Given the description of an element on the screen output the (x, y) to click on. 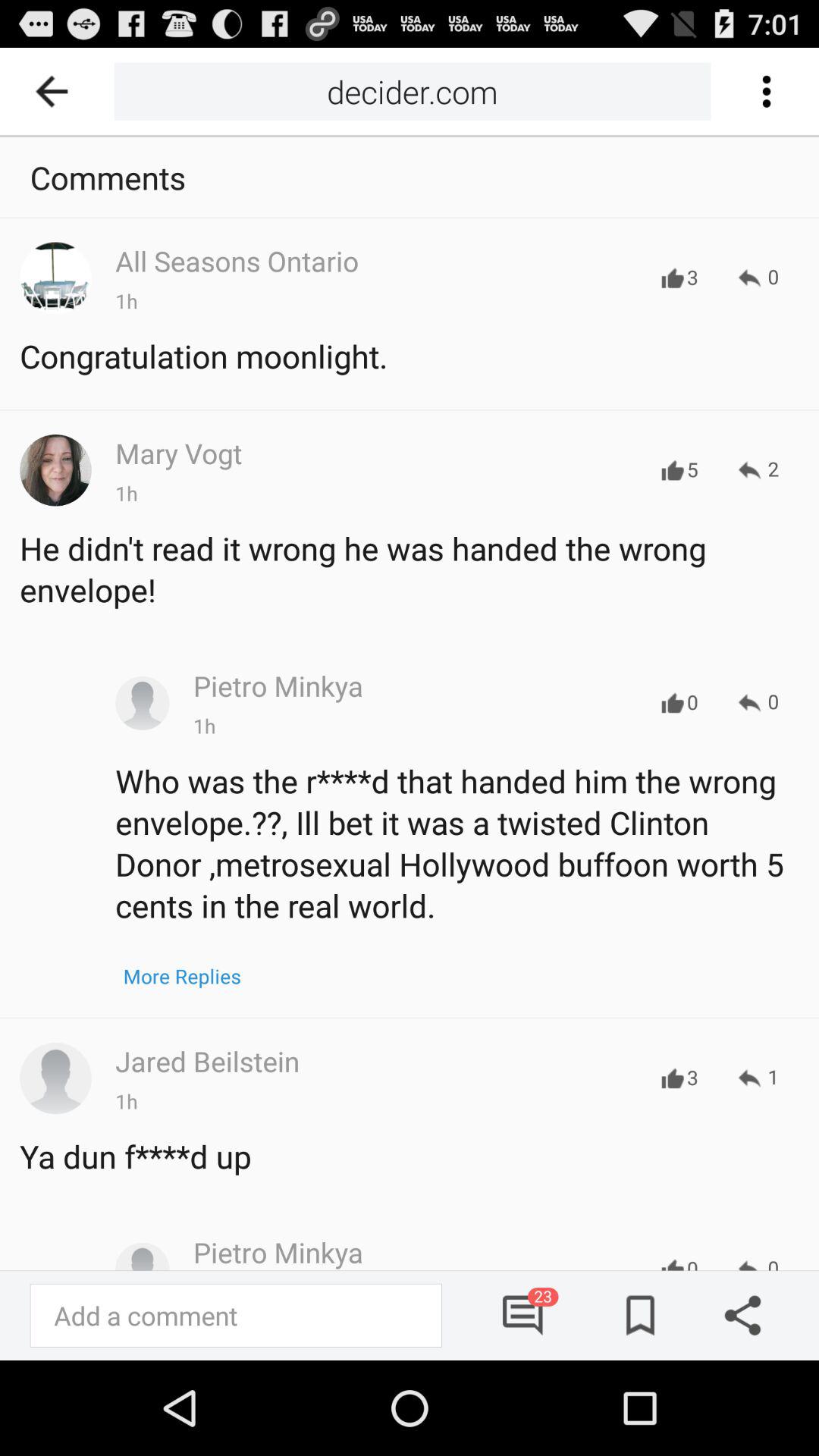
share the article (737, 1315)
